Given the description of an element on the screen output the (x, y) to click on. 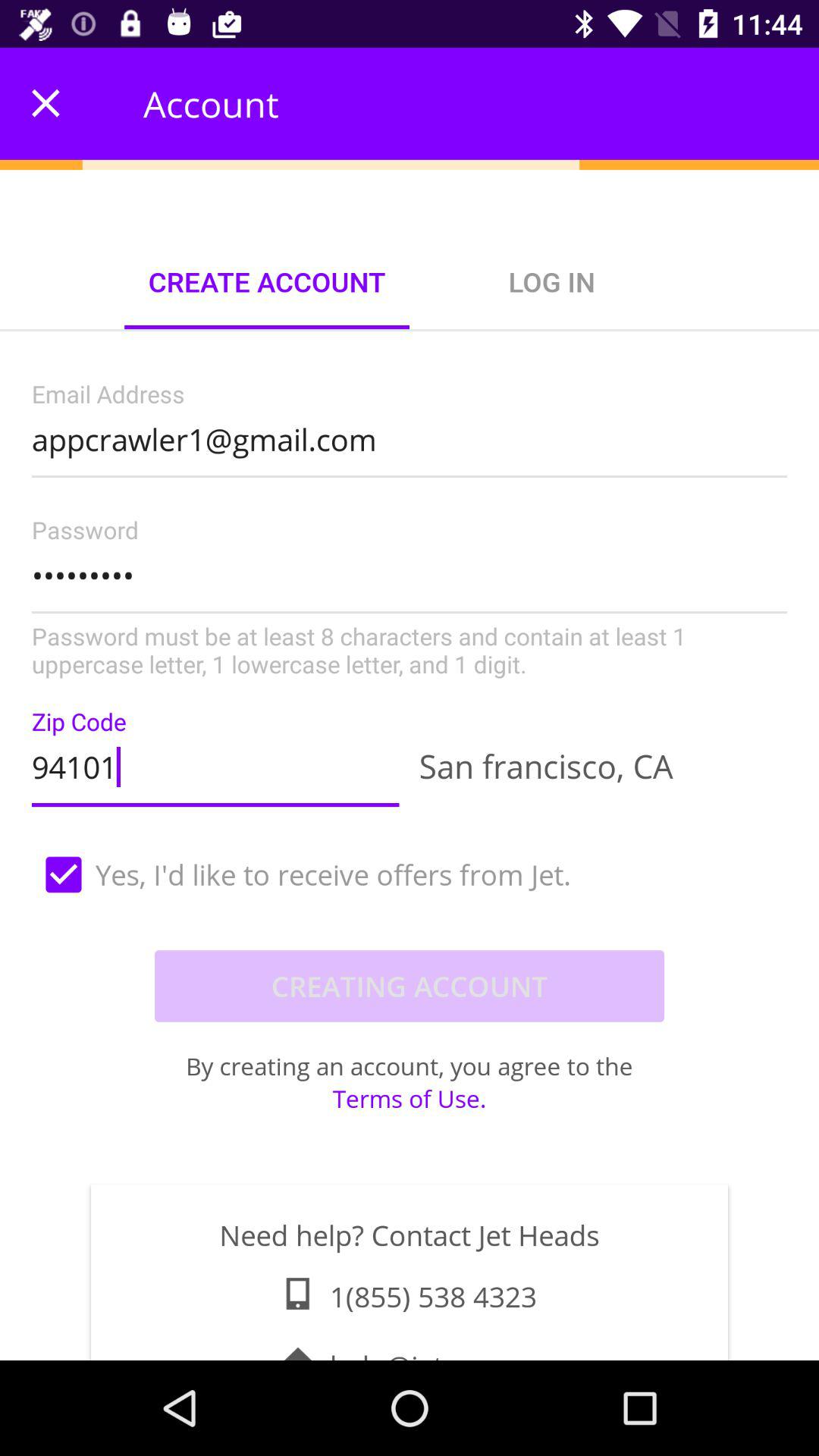
tap the icon below the by creating an item (409, 1098)
